Given the description of an element on the screen output the (x, y) to click on. 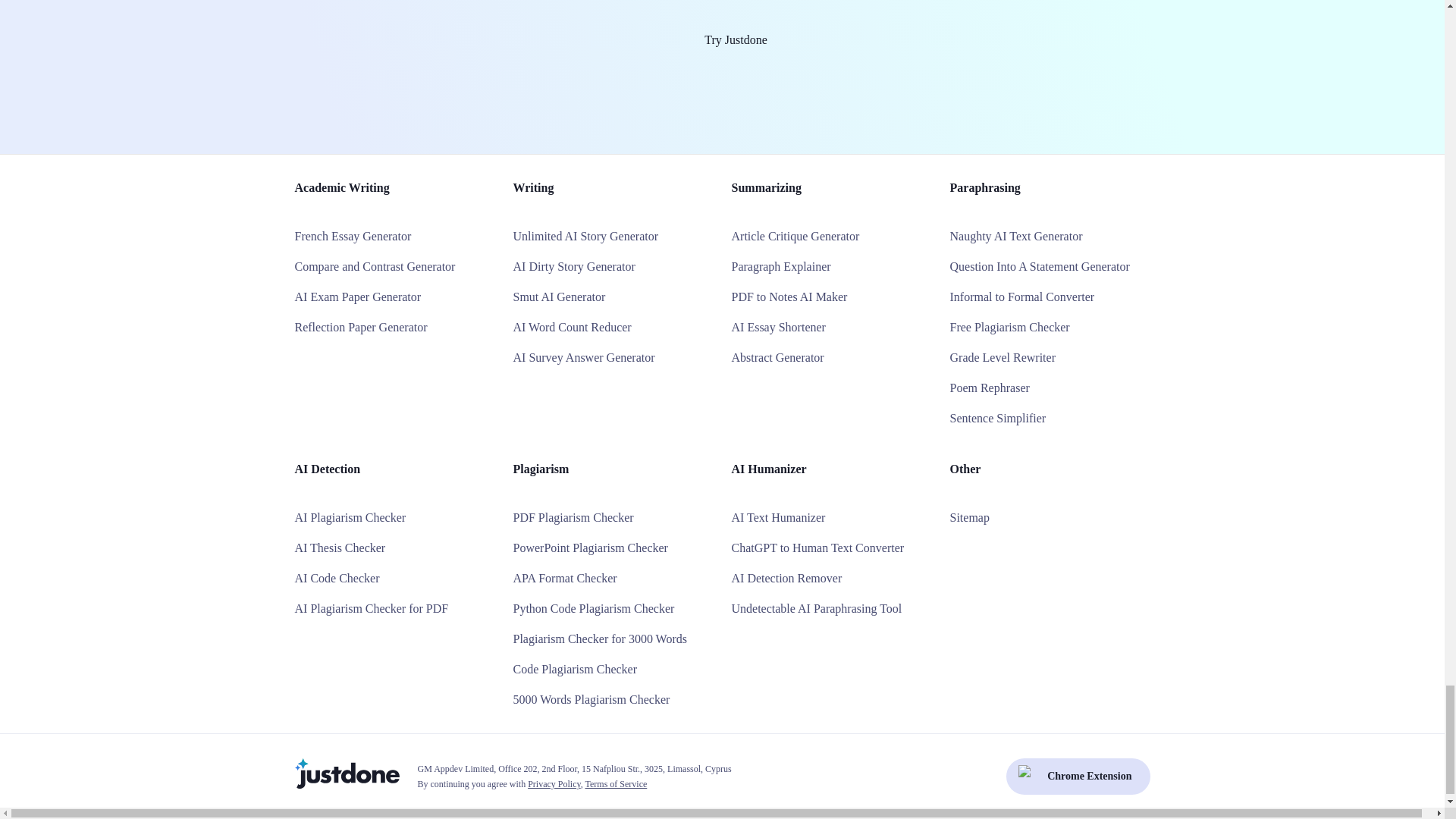
AI Code Checker (336, 577)
AI Detection (326, 468)
Smut AI Generator (558, 296)
Free Plagiarism Checker (1008, 327)
Writing (532, 187)
Unlimited AI Story Generator (585, 236)
AI Essay Shortener (777, 327)
Academic Writing (341, 187)
AI Survey Answer Generator (582, 357)
AI Word Count Reducer (571, 327)
Abstract Generator (777, 357)
Sentence Simplifier (997, 418)
AI Exam Paper Generator (357, 296)
Summarizing (765, 187)
Question Into A Statement Generator (1039, 266)
